Given the description of an element on the screen output the (x, y) to click on. 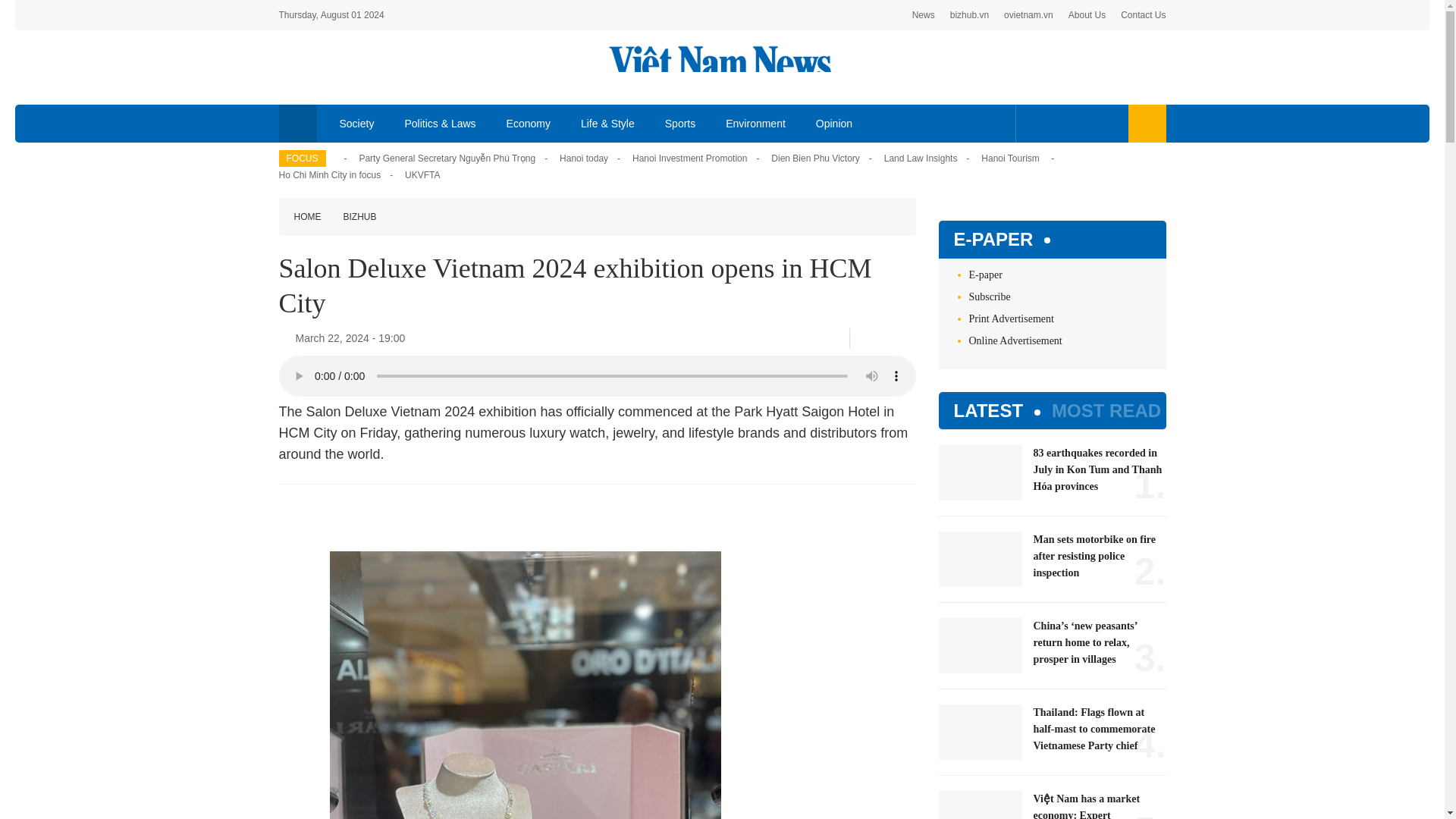
Youtube (1081, 122)
Twitter (885, 337)
Sports (679, 123)
Society (357, 123)
Instagram (1106, 123)
Contact Us (1143, 15)
Twitter (1056, 122)
Environment (755, 123)
Opinion (833, 123)
Facebook (1035, 123)
ovietnam.vn (1028, 15)
News (923, 15)
Economy (529, 123)
Email (909, 338)
bizhub.vn (969, 15)
